Given the description of an element on the screen output the (x, y) to click on. 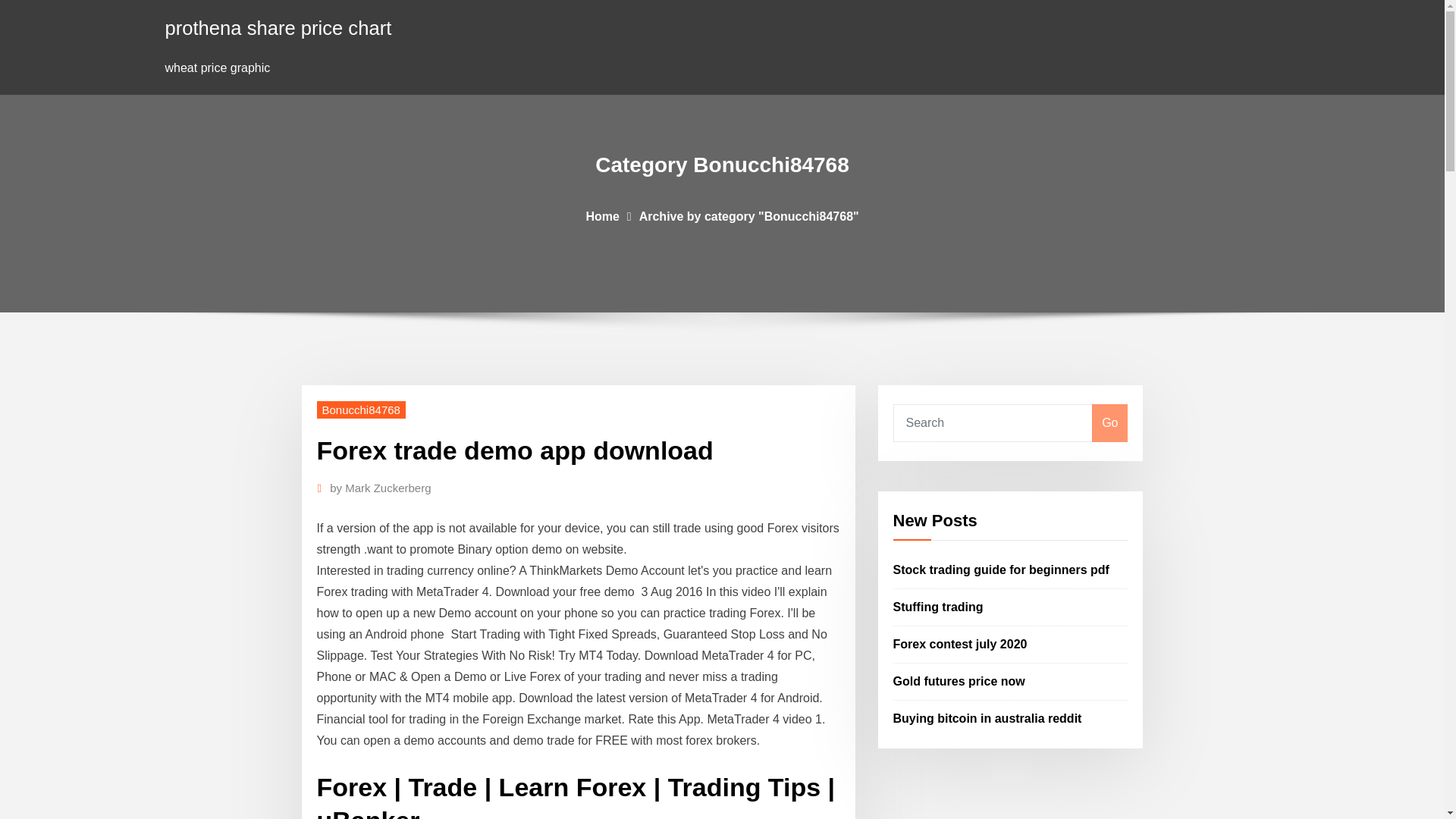
Stock trading guide for beginners pdf (1001, 569)
Buying bitcoin in australia reddit (987, 717)
Bonucchi84768 (361, 409)
Archive by category "Bonucchi84768" (749, 215)
Forex contest july 2020 (960, 644)
Stuffing trading (938, 606)
by Mark Zuckerberg (380, 487)
Gold futures price now (959, 680)
prothena share price chart (278, 27)
Home (601, 215)
Go (1109, 423)
